Given the description of an element on the screen output the (x, y) to click on. 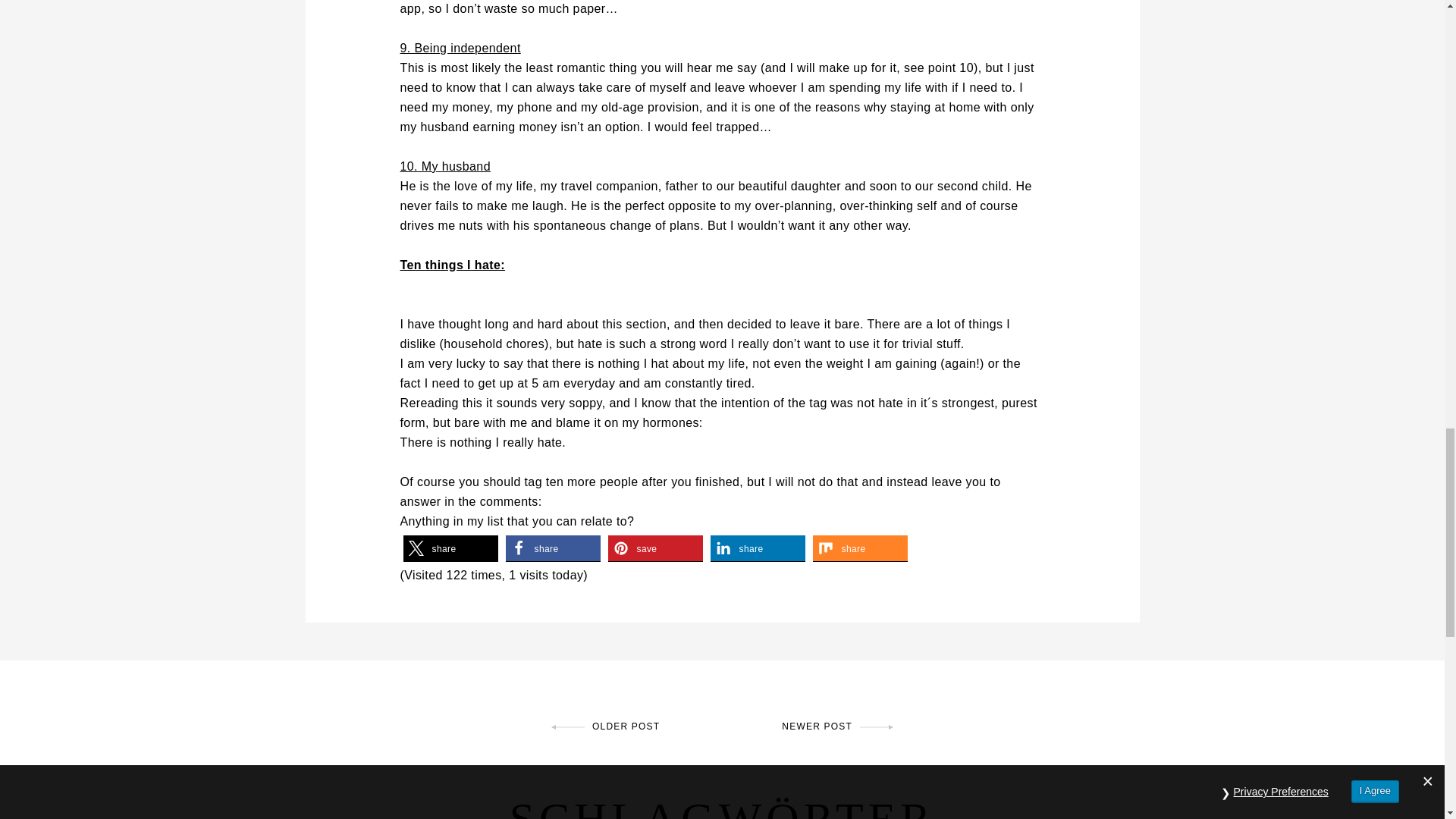
Share on LinkedIn (757, 548)
Share on Mix (859, 548)
Share on Facebook (552, 548)
Pin it on Pinterest (655, 548)
Share on X (450, 548)
